Given the description of an element on the screen output the (x, y) to click on. 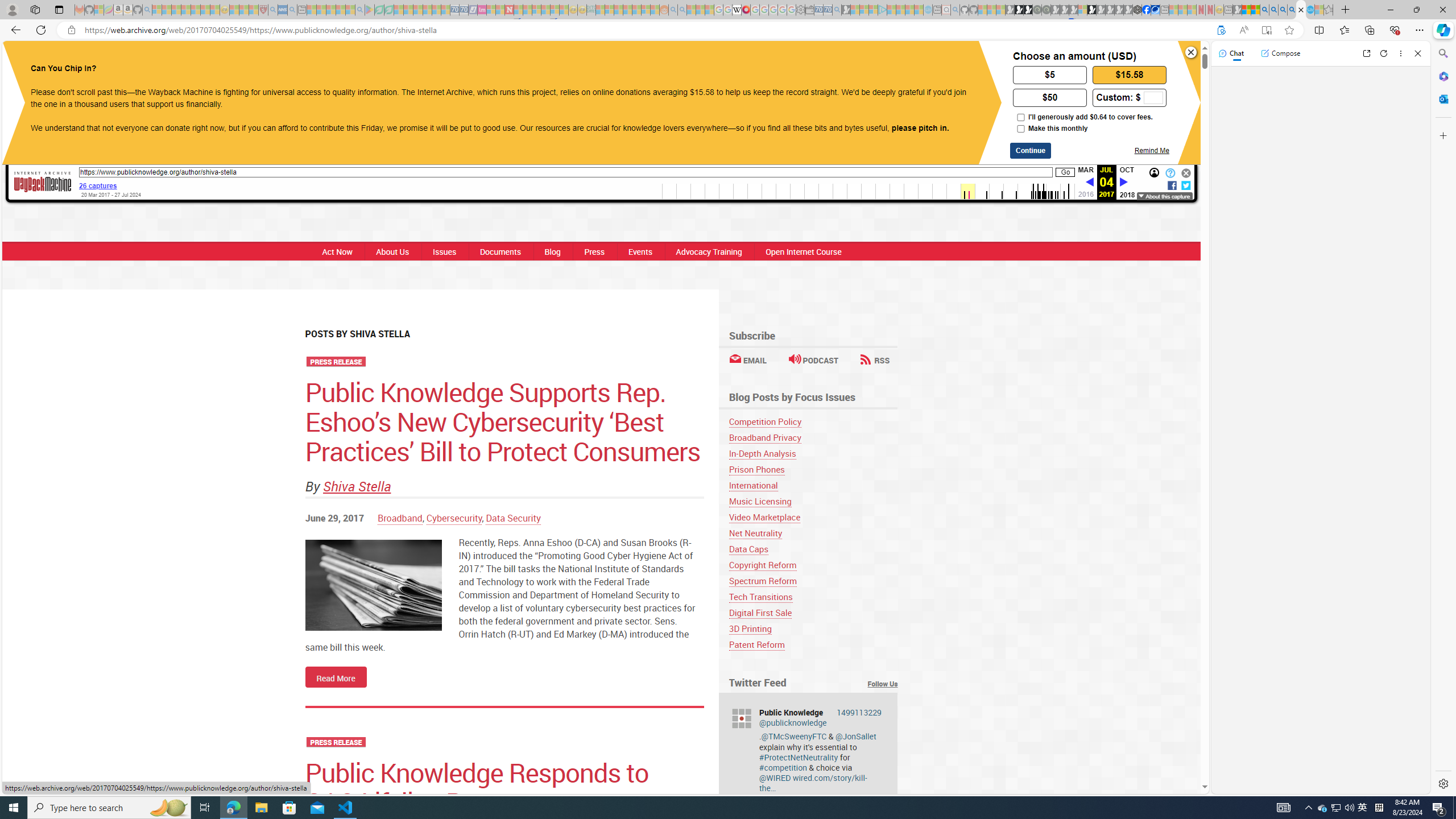
Follow Us (882, 683)
Issues (443, 251)
Events (640, 251)
Net Neutrality (755, 532)
Data Caps (748, 548)
AirNow.gov (1154, 9)
Data Caps (813, 548)
